Given the description of an element on the screen output the (x, y) to click on. 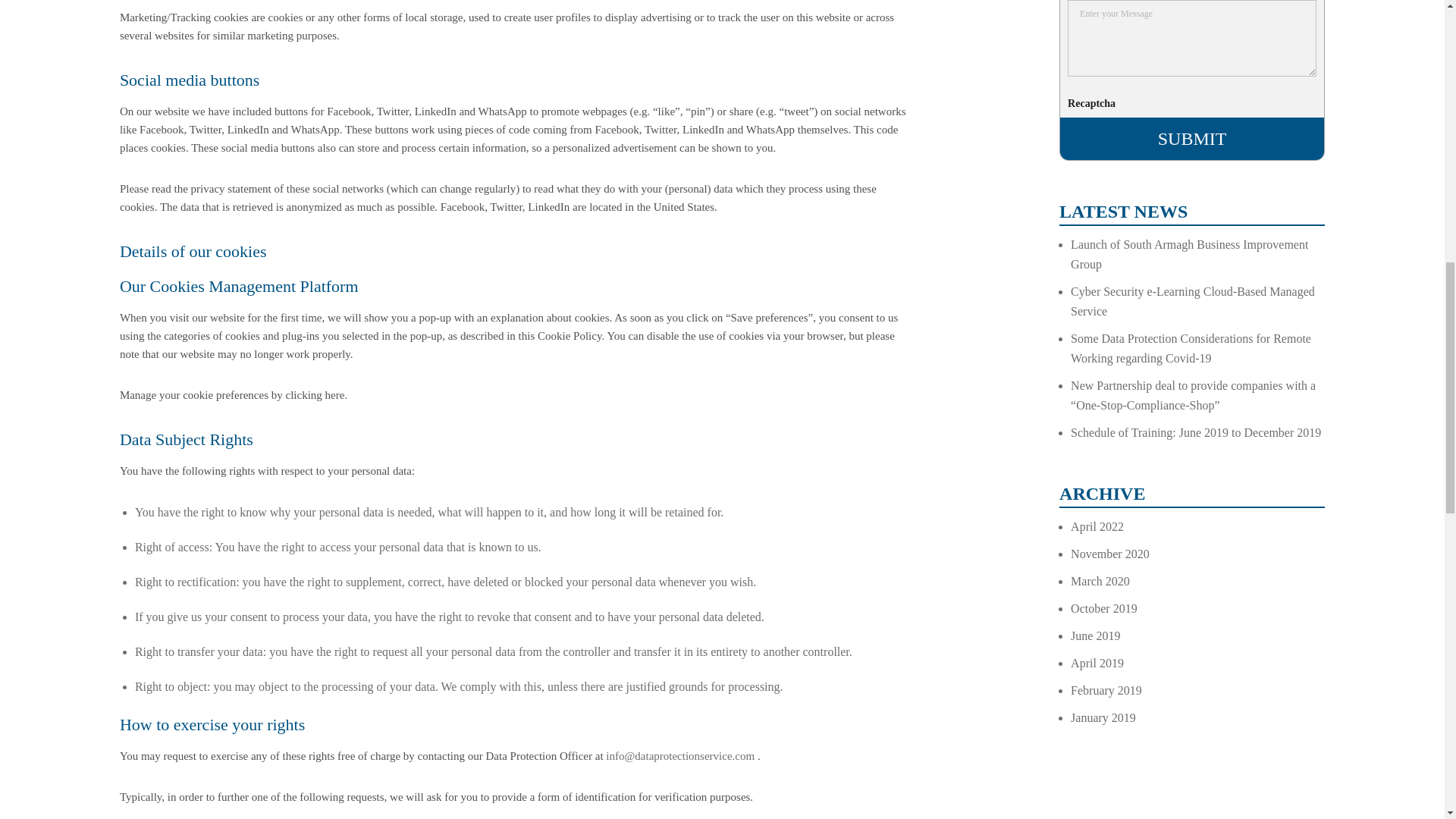
Cyber Security e-Learning Cloud-Based Managed Service (1192, 301)
Launch of South Armagh Business Improvement Group (1188, 254)
SUBMIT (1191, 138)
